Given the description of an element on the screen output the (x, y) to click on. 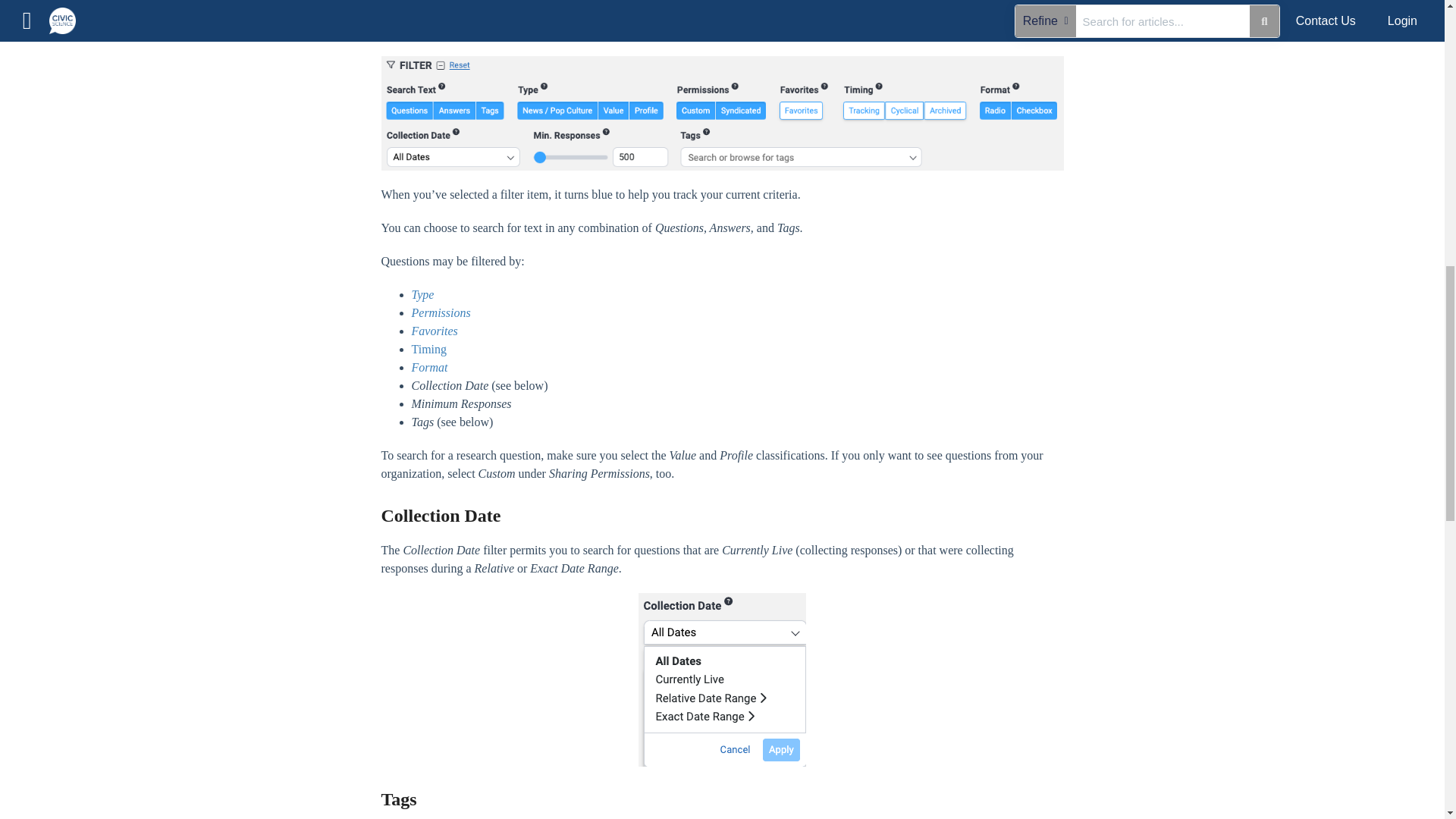
Question Classifications (421, 294)
Favorite Questions (433, 330)
Question Permissions (440, 312)
Question Timing (428, 349)
